Given the description of an element on the screen output the (x, y) to click on. 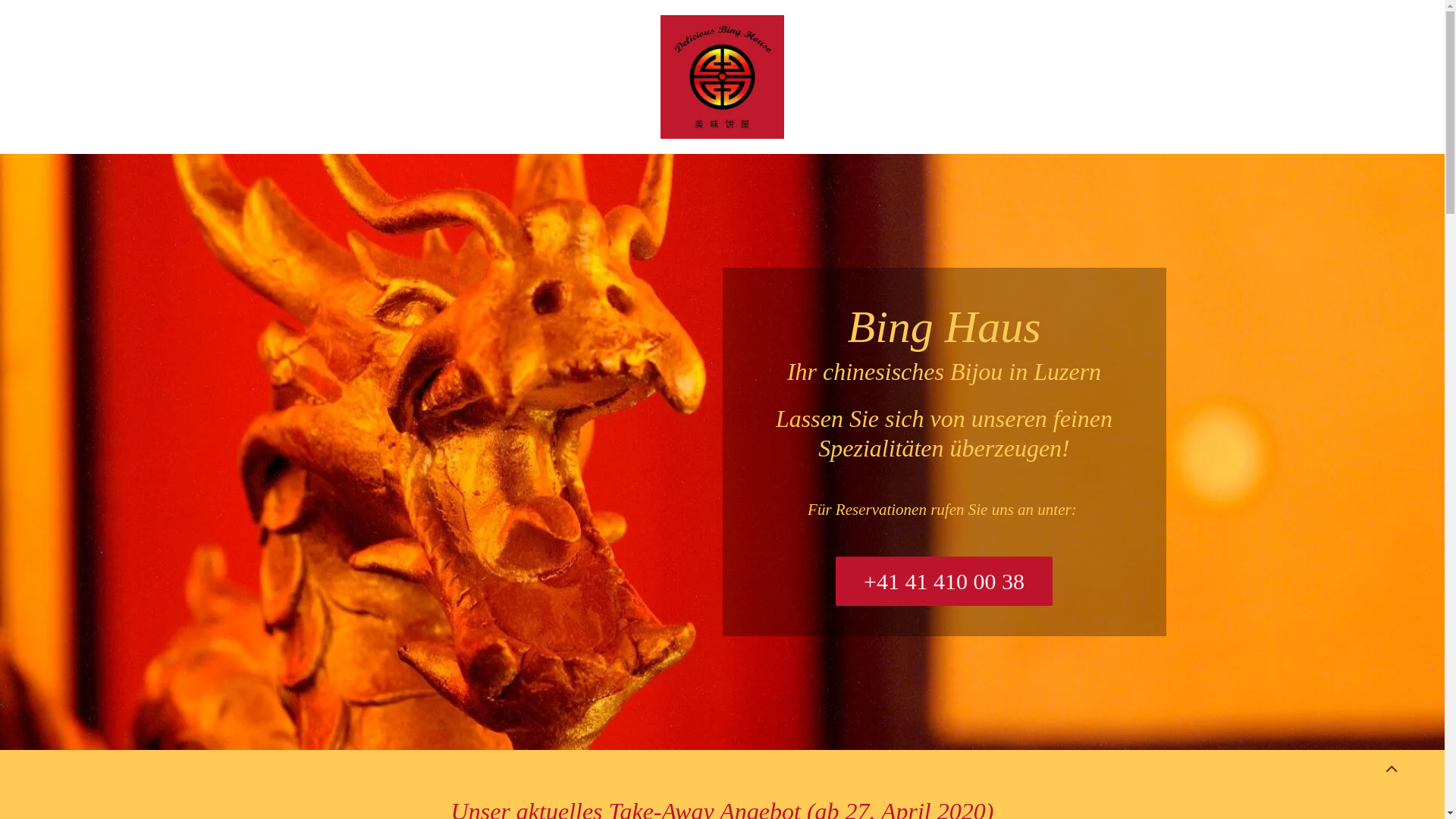
+41 41 410 00 38 Element type: text (943, 580)
Logo Bing Haus Element type: hover (722, 76)
